Given the description of an element on the screen output the (x, y) to click on. 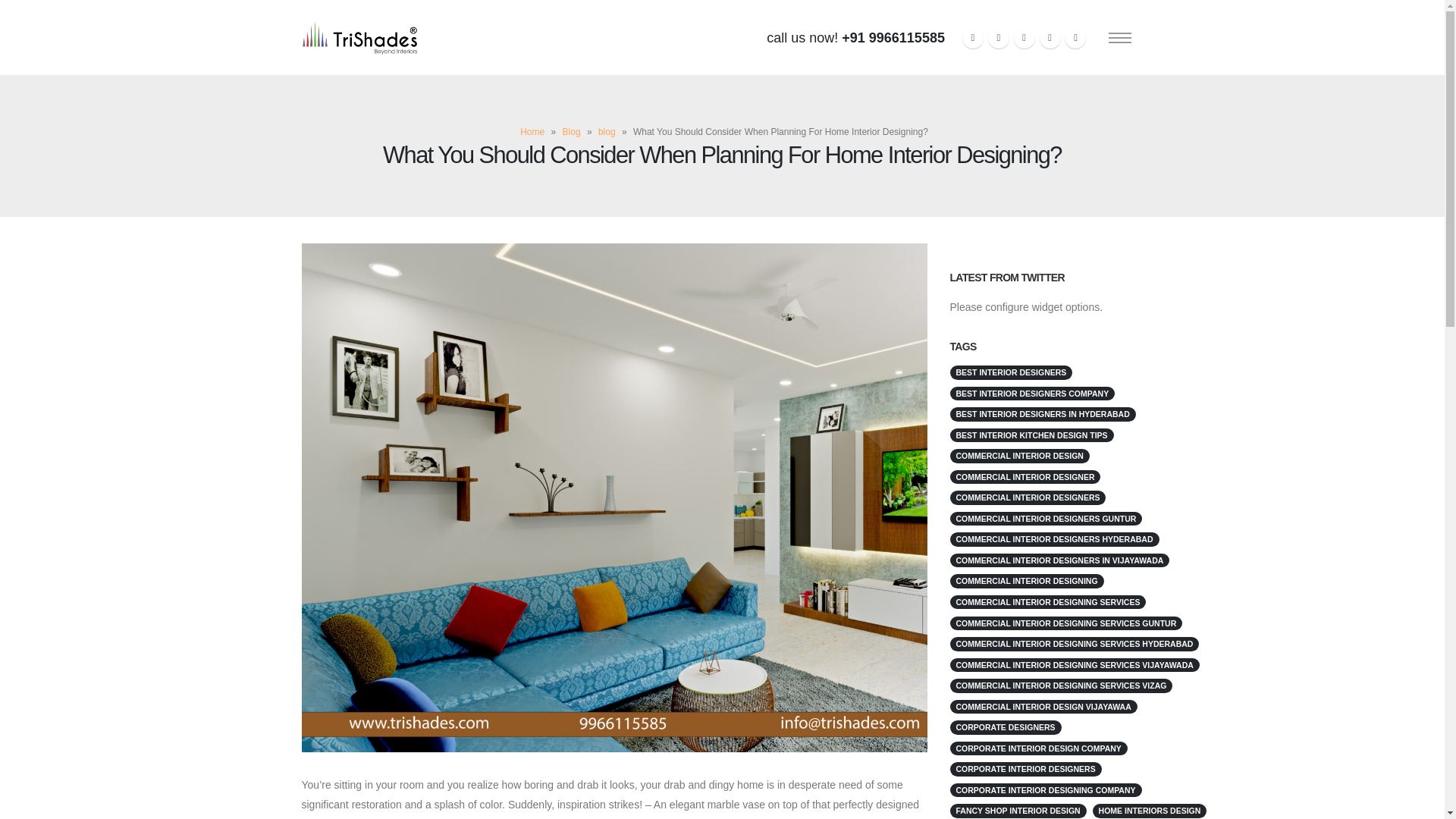
COMMERCIAL INTERIOR DESIGNER (1024, 477)
COMMERCIAL INTERIOR DESIGNERS HYDERABAD (1053, 539)
blog (606, 131)
BEST INTERIOR KITCHEN DESIGN TIPS (1031, 435)
BEST INTERIOR DESIGNERS COMPANY (1032, 393)
COMMERCIAL INTERIOR DESIGN (1019, 455)
Pinterest (1024, 37)
COMMERCIAL INTERIOR DESIGNERS (1027, 497)
Trishades - Beyond Interiors (359, 37)
Twitter (998, 37)
BEST INTERIOR DESIGNERS (1010, 372)
Facebook (973, 37)
LinkedIn (1075, 37)
BEST INTERIOR DESIGNERS IN HYDERABAD (1042, 414)
COMMERCIAL INTERIOR DESIGNERS IN VIJAYAWADA (1059, 560)
